Given the description of an element on the screen output the (x, y) to click on. 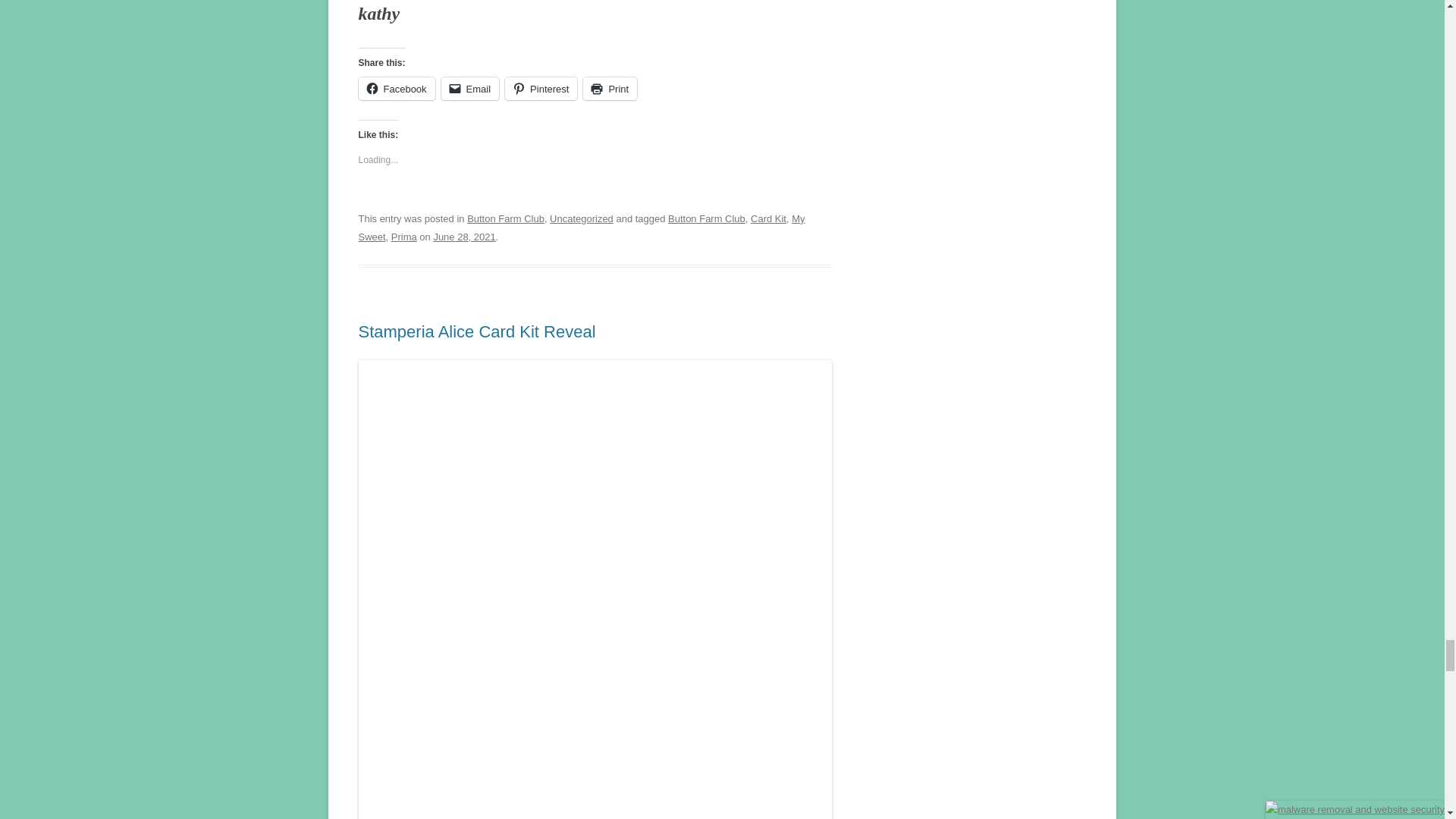
Click to print (610, 87)
Click to email a link to a friend (470, 87)
Email (470, 87)
Card Kit (768, 218)
June 28, 2021 (463, 236)
My Sweet (581, 227)
Facebook (395, 87)
Prima (403, 236)
Print (610, 87)
Stamperia Alice Card Kit Reveal (476, 331)
